Given the description of an element on the screen output the (x, y) to click on. 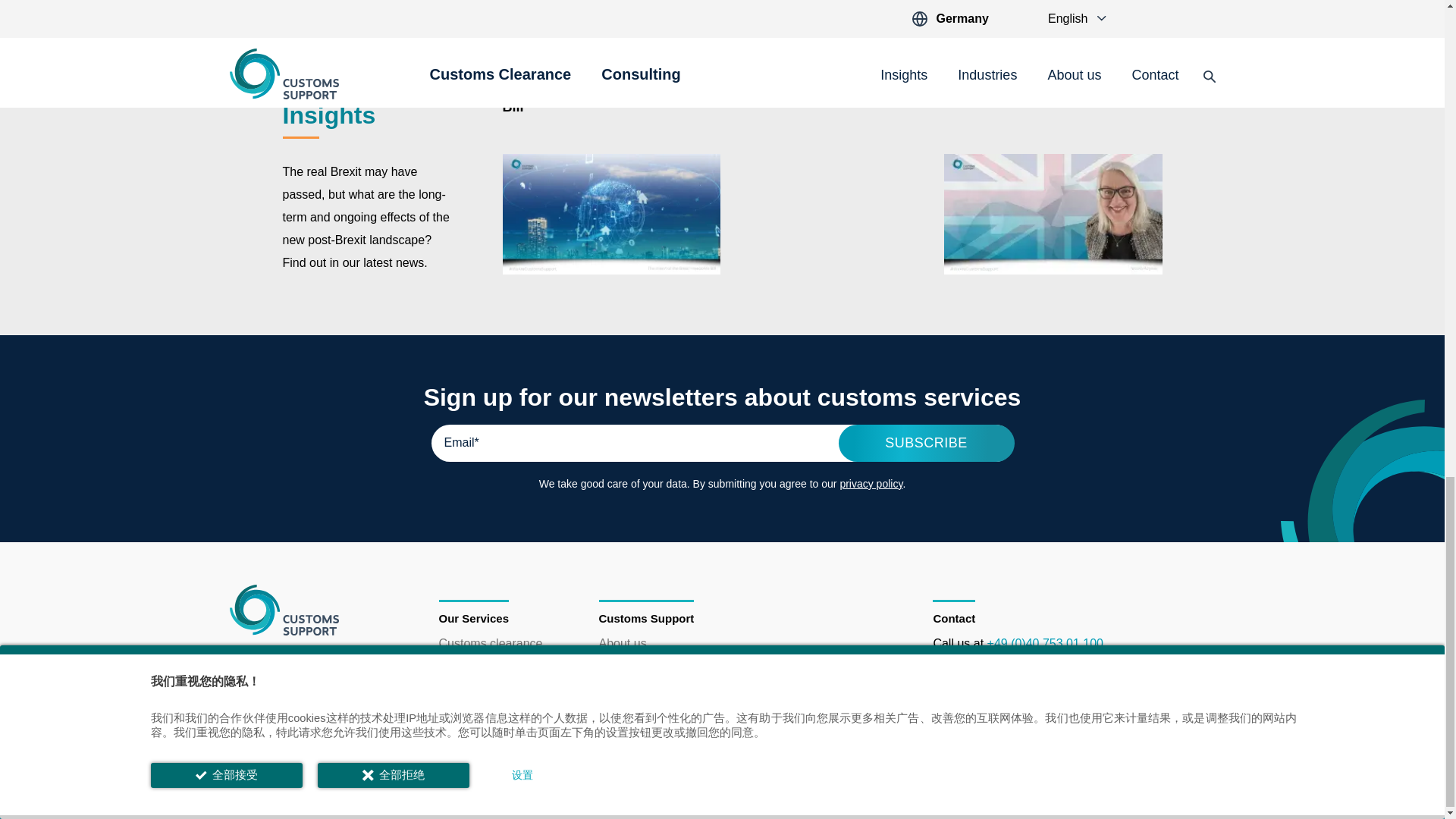
Subscribe (926, 443)
